Given the description of an element on the screen output the (x, y) to click on. 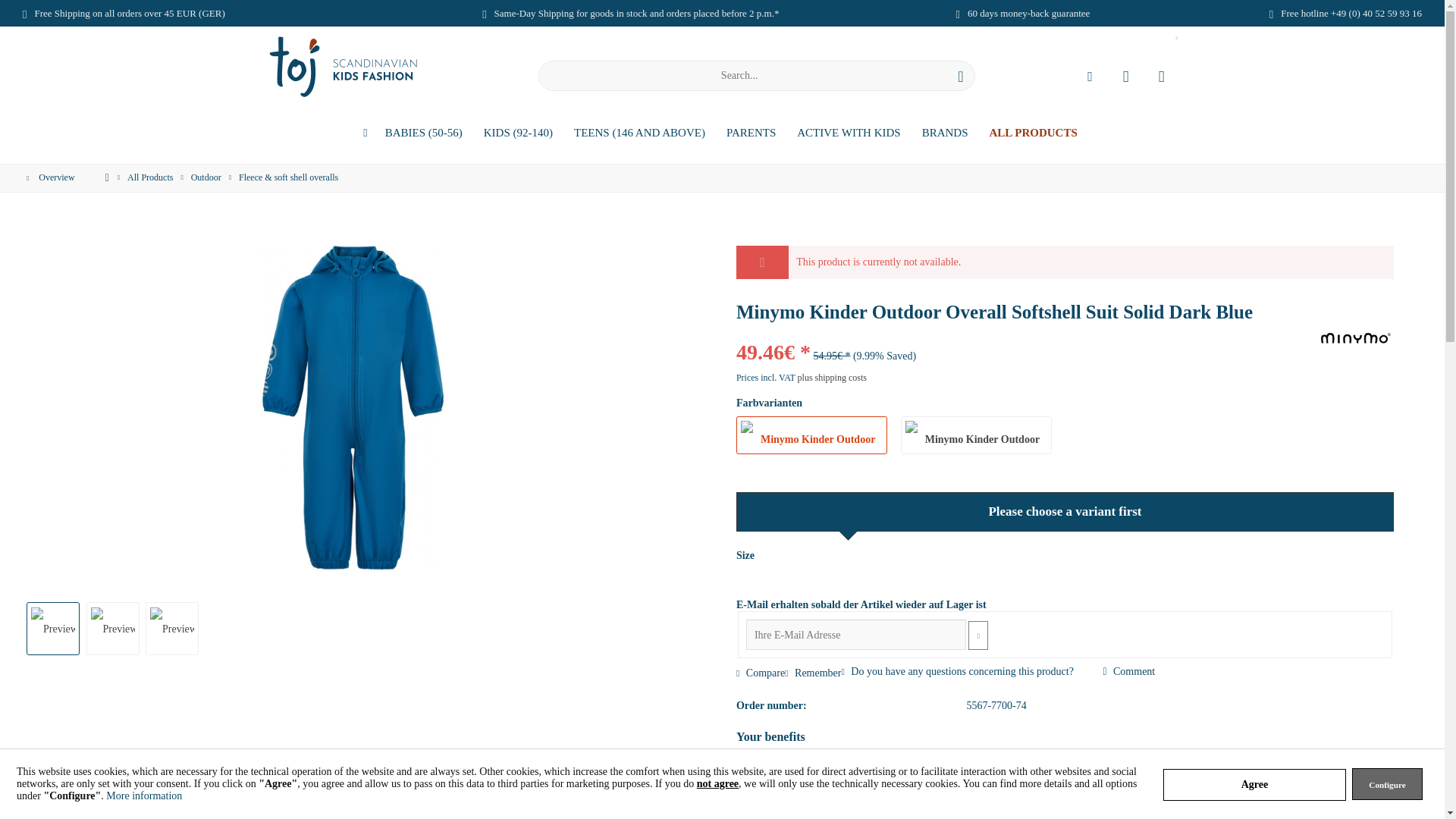
Wish list (1125, 75)
BRANDS (944, 132)
All Products (1032, 132)
ALL PRODUCTS (1032, 132)
ACTIVE WITH KIDS (848, 132)
Active with kids (848, 132)
ACTIVE WITH KIDS (848, 132)
toj.de - Switch to homepage (342, 66)
Brands (944, 132)
ALL PRODUCTS (1032, 132)
PARENTS (751, 132)
Shopping cart (1160, 75)
Customer account (1089, 75)
PARENTS (751, 132)
BRANDS (944, 132)
